Given the description of an element on the screen output the (x, y) to click on. 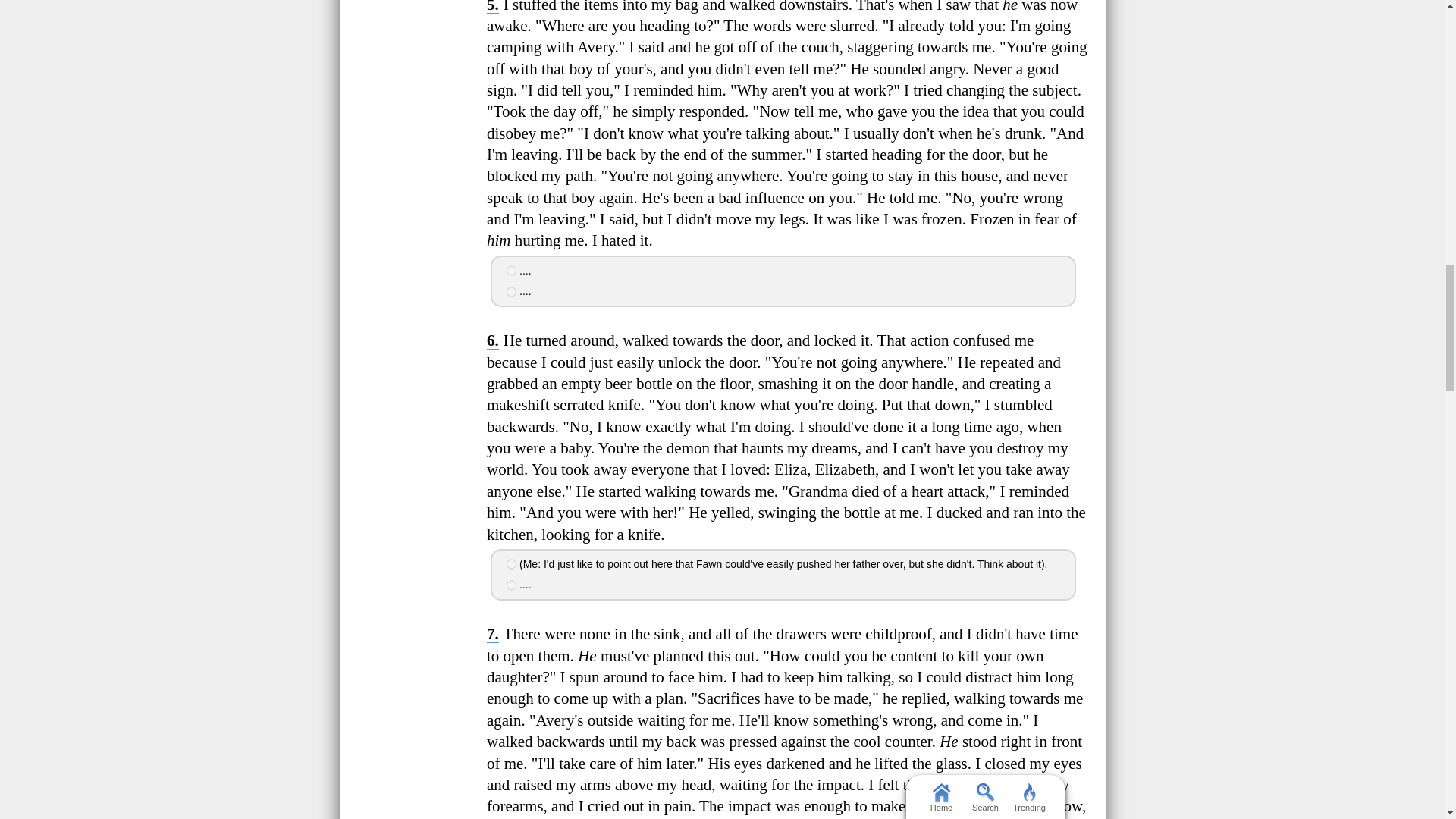
2 (511, 291)
1 (511, 563)
2 (511, 584)
1 (511, 270)
